Given the description of an element on the screen output the (x, y) to click on. 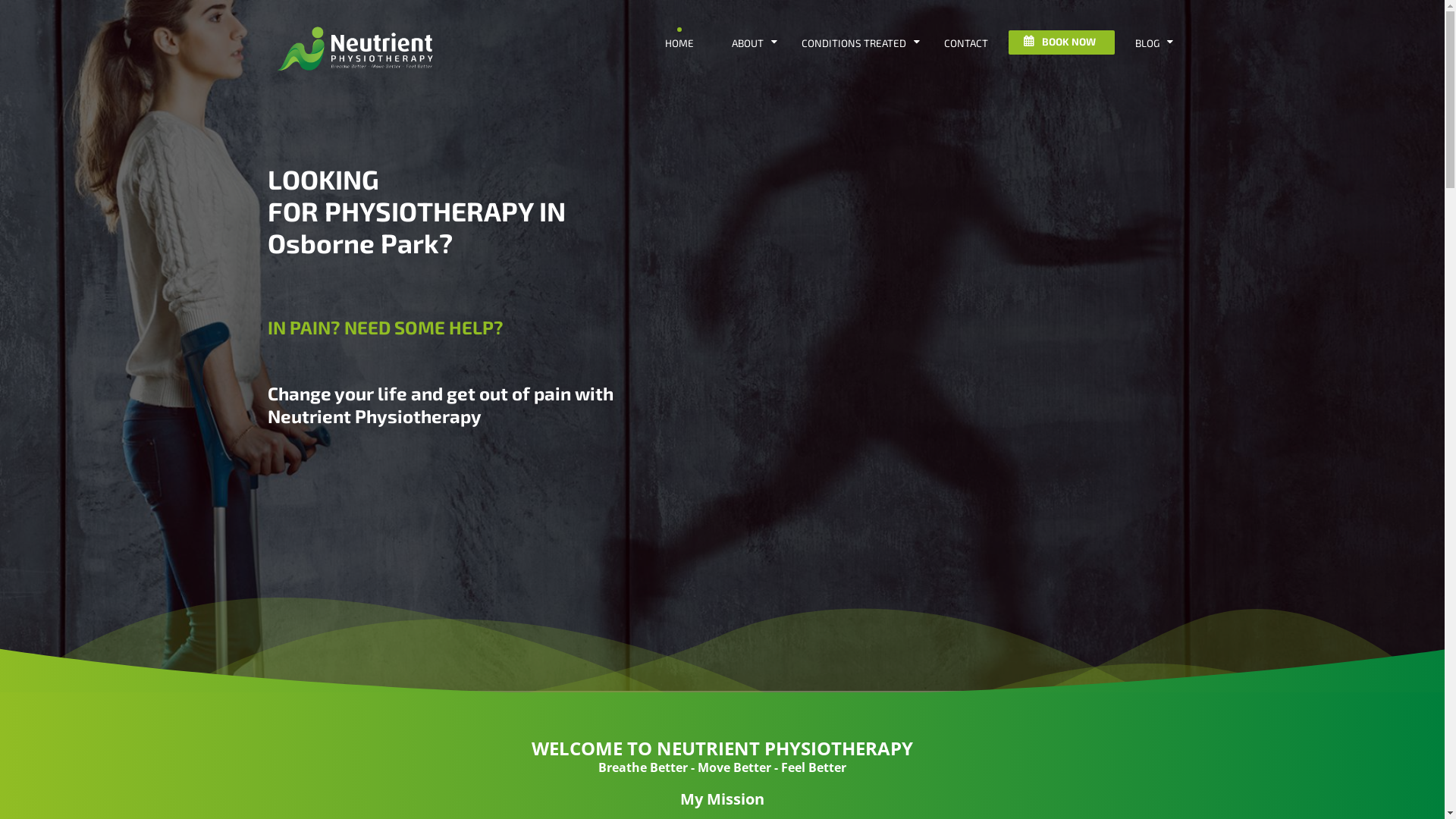
BLOG Element type: text (1147, 43)
HOME Element type: text (679, 43)
CONTACT Element type: text (966, 43)
ABOUT Element type: text (747, 43)
CONDITIONS TREATED Element type: text (853, 43)
Visit the Neutrient Physiotherapy Home Page Element type: hover (357, 75)
BOOK NOW Element type: text (1061, 41)
